Given the description of an element on the screen output the (x, y) to click on. 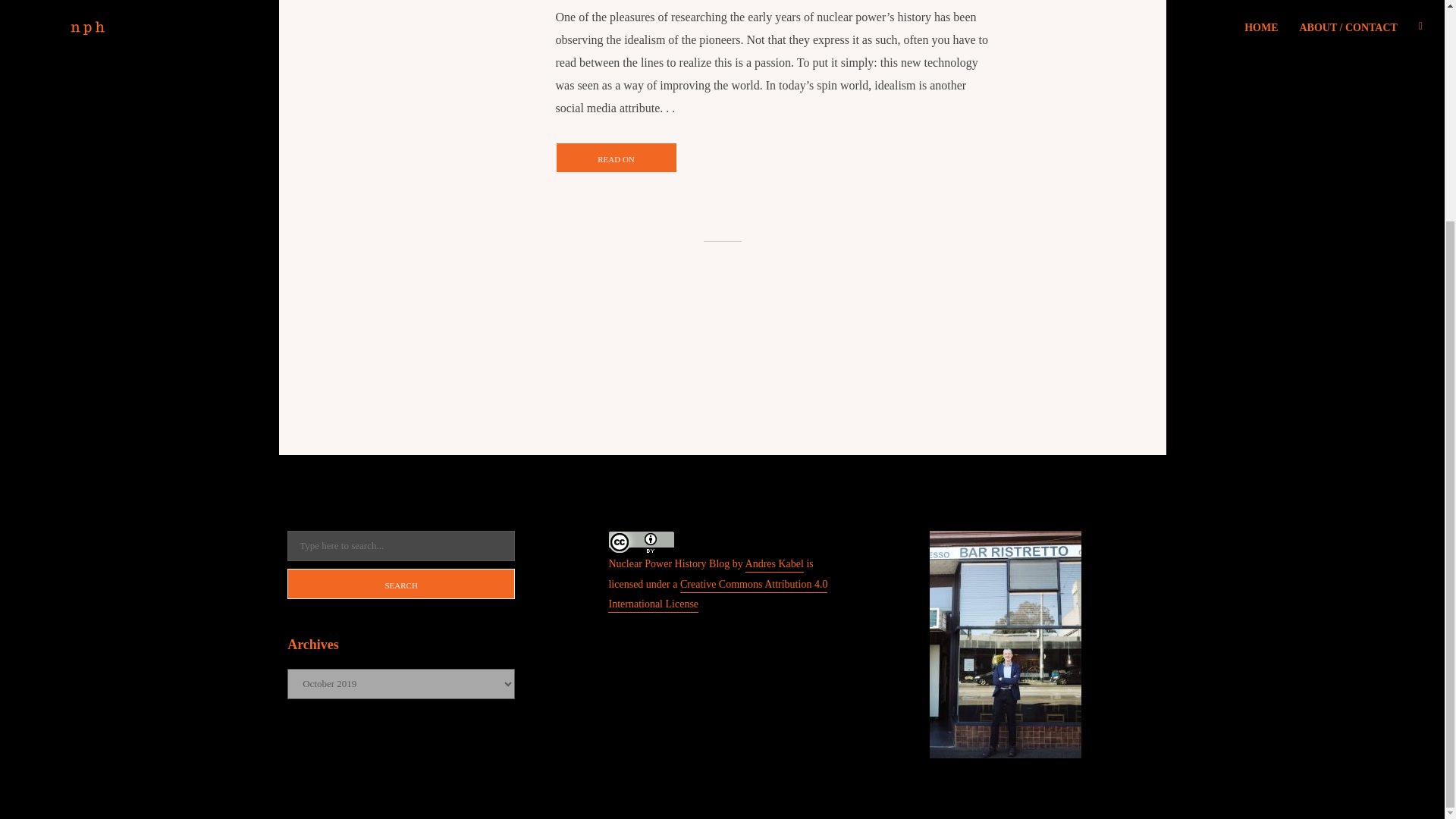
SEARCH (400, 583)
READ ON (615, 157)
Creative Commons Attribution 4.0 International License (717, 595)
Andres Kabel (774, 564)
